Given the description of an element on the screen output the (x, y) to click on. 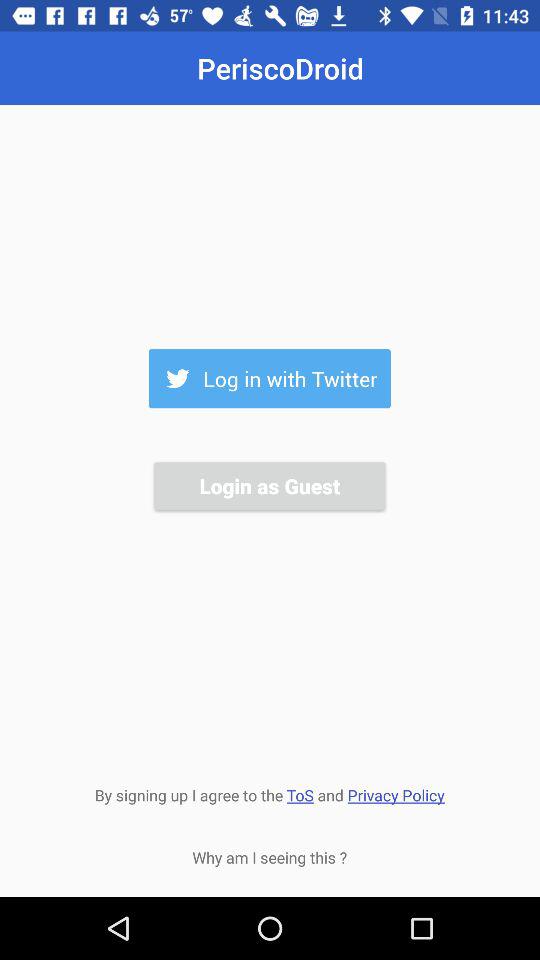
jump to the login as guest item (269, 485)
